Given the description of an element on the screen output the (x, y) to click on. 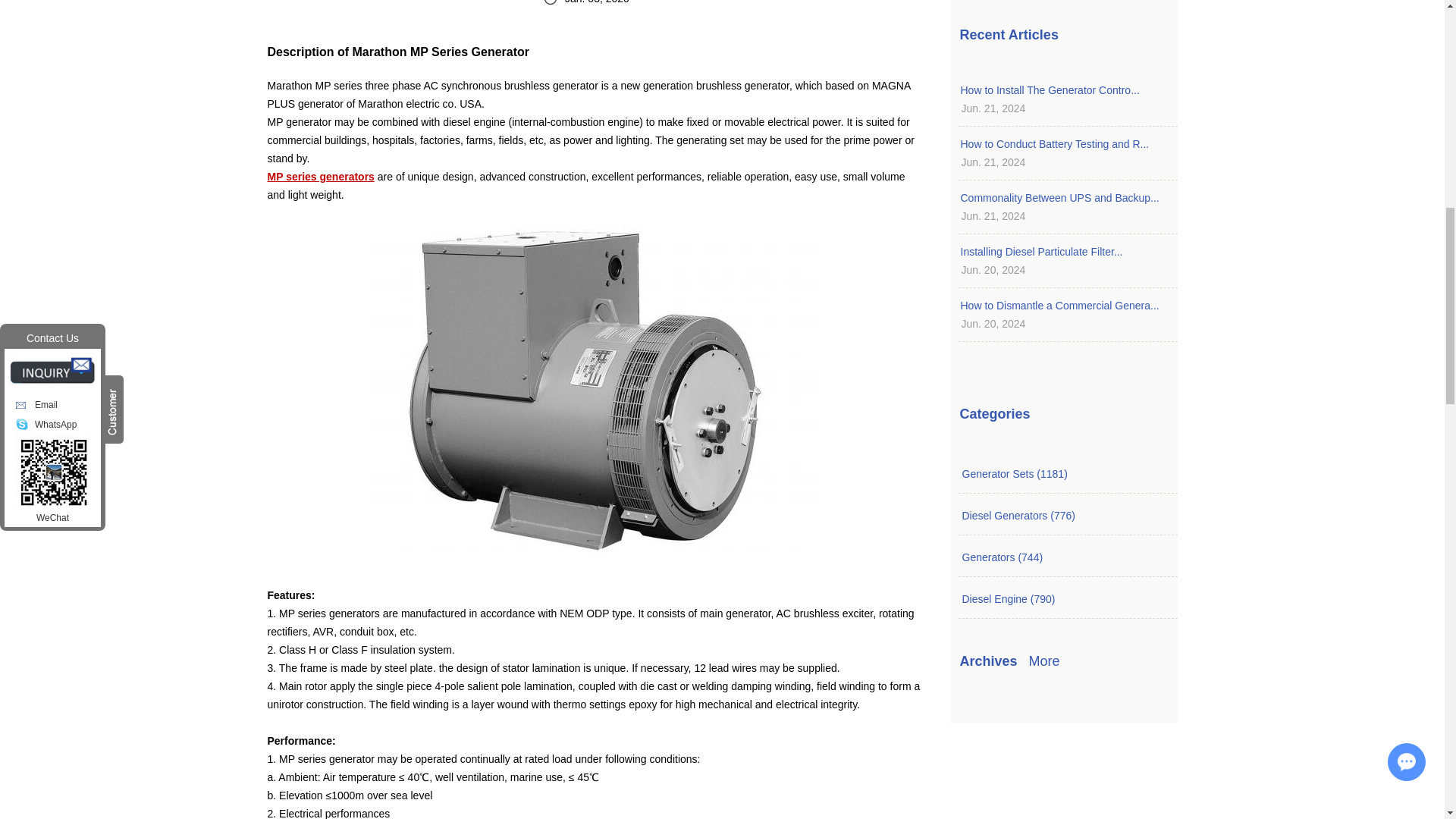
Installing Diesel Particulate Filters on Diesel Generators (1063, 251)
Marathon generator (320, 176)
How to Install The Generator Control Panel? (1063, 90)
Commonality Between UPS and Backup Generators (1063, 198)
